Given the description of an element on the screen output the (x, y) to click on. 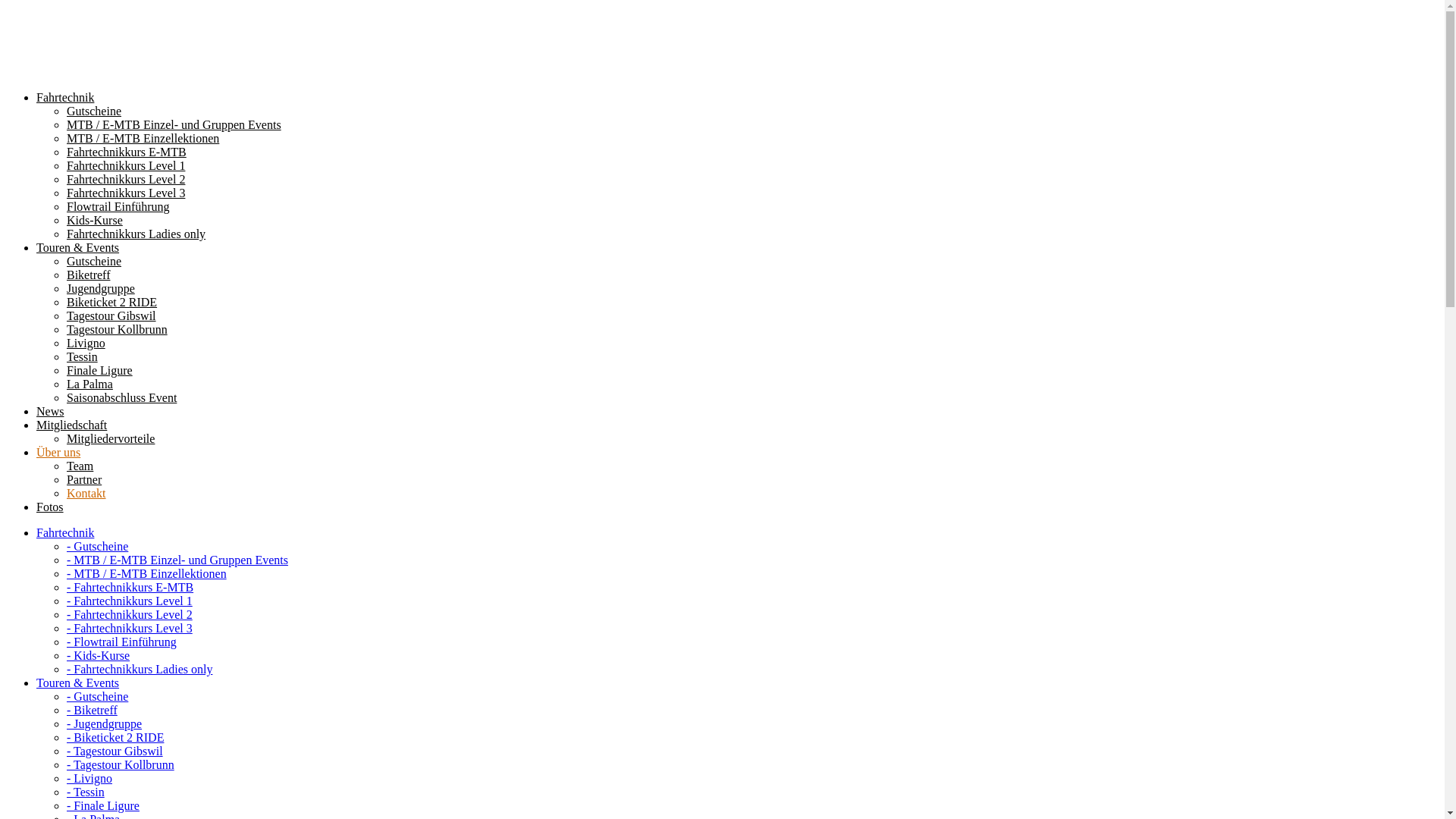
Fotos Element type: text (49, 506)
- Livigno Element type: text (89, 777)
Mitgliedschaft Element type: text (71, 424)
Fahrtechnikkurs Level 2 Element type: text (125, 178)
- Fahrtechnikkurs Level 2 Element type: text (129, 614)
- Tessin Element type: text (85, 791)
- Gutscheine Element type: text (97, 696)
Partner Element type: text (83, 479)
Tagestour Kollbrunn Element type: text (116, 329)
MTB / E-MTB Einzel- und Gruppen Events Element type: text (173, 124)
Fahrtechnikkurs E-MTB Element type: text (126, 151)
Gutscheine Element type: text (93, 110)
Biketreff Element type: text (87, 274)
Team Element type: text (79, 465)
- Fahrtechnikkurs Level 3 Element type: text (129, 627)
Jugendgruppe Element type: text (100, 288)
Livigno Element type: text (85, 342)
- Fahrtechnikkurs Ladies only Element type: text (139, 668)
Fahrtechnikkurs Level 3 Element type: text (125, 192)
Touren & Events Element type: text (77, 247)
MTB / E-MTB Einzellektionen Element type: text (142, 137)
Saisonabschluss Event Element type: text (121, 397)
- Gutscheine Element type: text (97, 545)
Fahrtechnik Element type: text (65, 97)
Touren & Events Element type: text (77, 682)
Kontakt Element type: text (86, 492)
Fahrtechnik Element type: text (65, 532)
Gutscheine Element type: text (93, 260)
Mitgliedervorteile Element type: text (110, 438)
- MTB / E-MTB Einzellektionen Element type: text (146, 573)
Finale Ligure Element type: text (99, 370)
La Palma Element type: text (89, 383)
Fahrtechnikkurs Level 1 Element type: text (125, 165)
- Tagestour Gibswil Element type: text (114, 750)
- Finale Ligure Element type: text (102, 805)
Tagestour Gibswil Element type: text (111, 315)
- Biketicket 2 RIDE Element type: text (114, 737)
Fahrtechnikkurs Ladies only Element type: text (135, 233)
- Fahrtechnikkurs Level 1 Element type: text (129, 600)
- Biketreff Element type: text (91, 709)
- Jugendgruppe Element type: text (103, 723)
- MTB / E-MTB Einzel- und Gruppen Events Element type: text (177, 559)
Biketicket 2 RIDE Element type: text (111, 301)
News Element type: text (49, 410)
- Kids-Kurse Element type: text (97, 655)
- Tagestour Kollbrunn Element type: text (120, 764)
Kids-Kurse Element type: text (94, 219)
Tessin Element type: text (81, 356)
- Fahrtechnikkurs E-MTB Element type: text (129, 586)
